Given the description of an element on the screen output the (x, y) to click on. 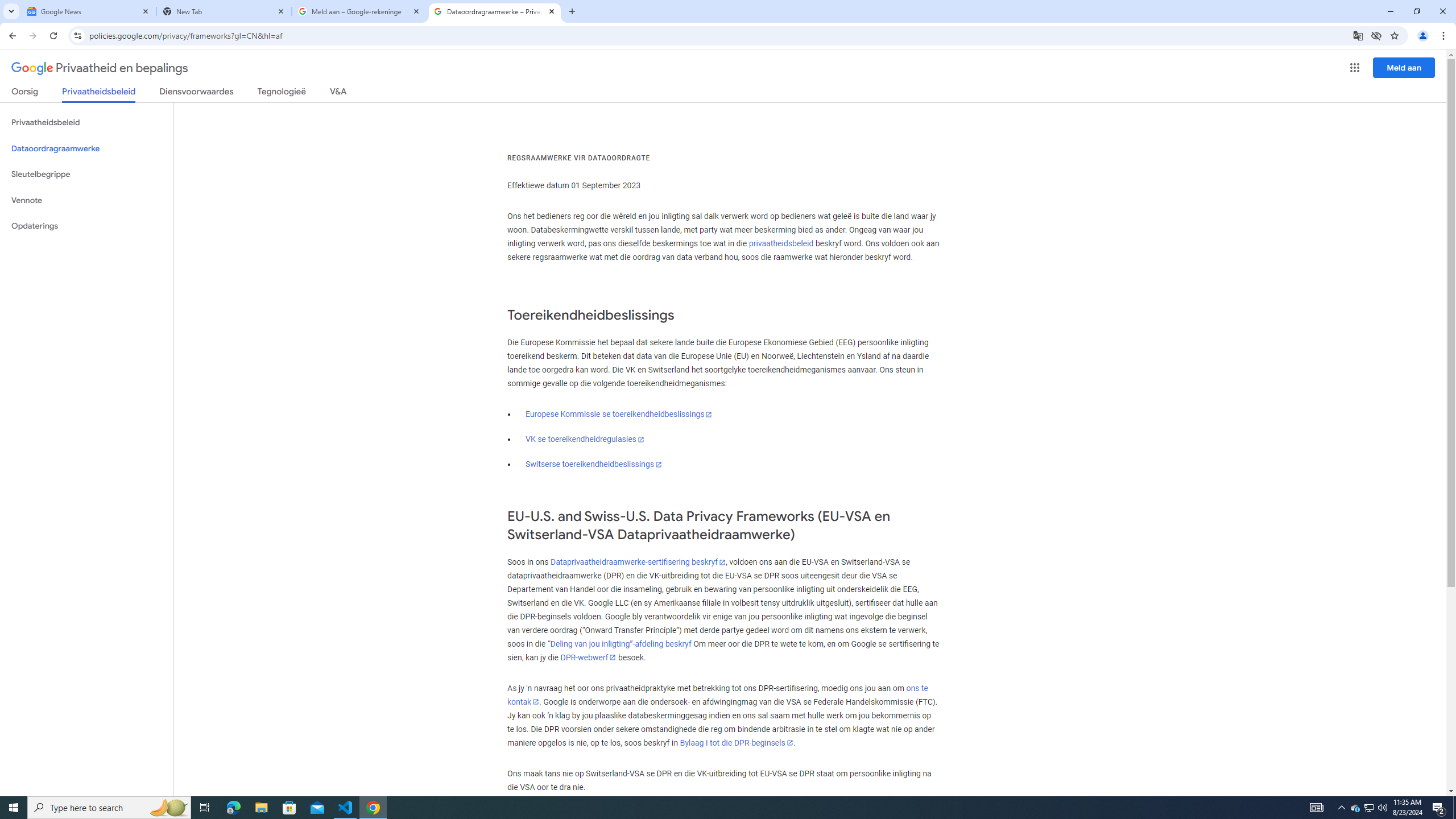
New Tab (224, 11)
Bylaag I tot die DPR-beginsels (736, 742)
Dataprivaatheidraamwerke-sertifisering beskryf (637, 561)
VK se toereikendheidregulasies (585, 439)
Sleutelbegrippe (86, 174)
ons te kontak (717, 694)
Translate this page (1358, 35)
